Given the description of an element on the screen output the (x, y) to click on. 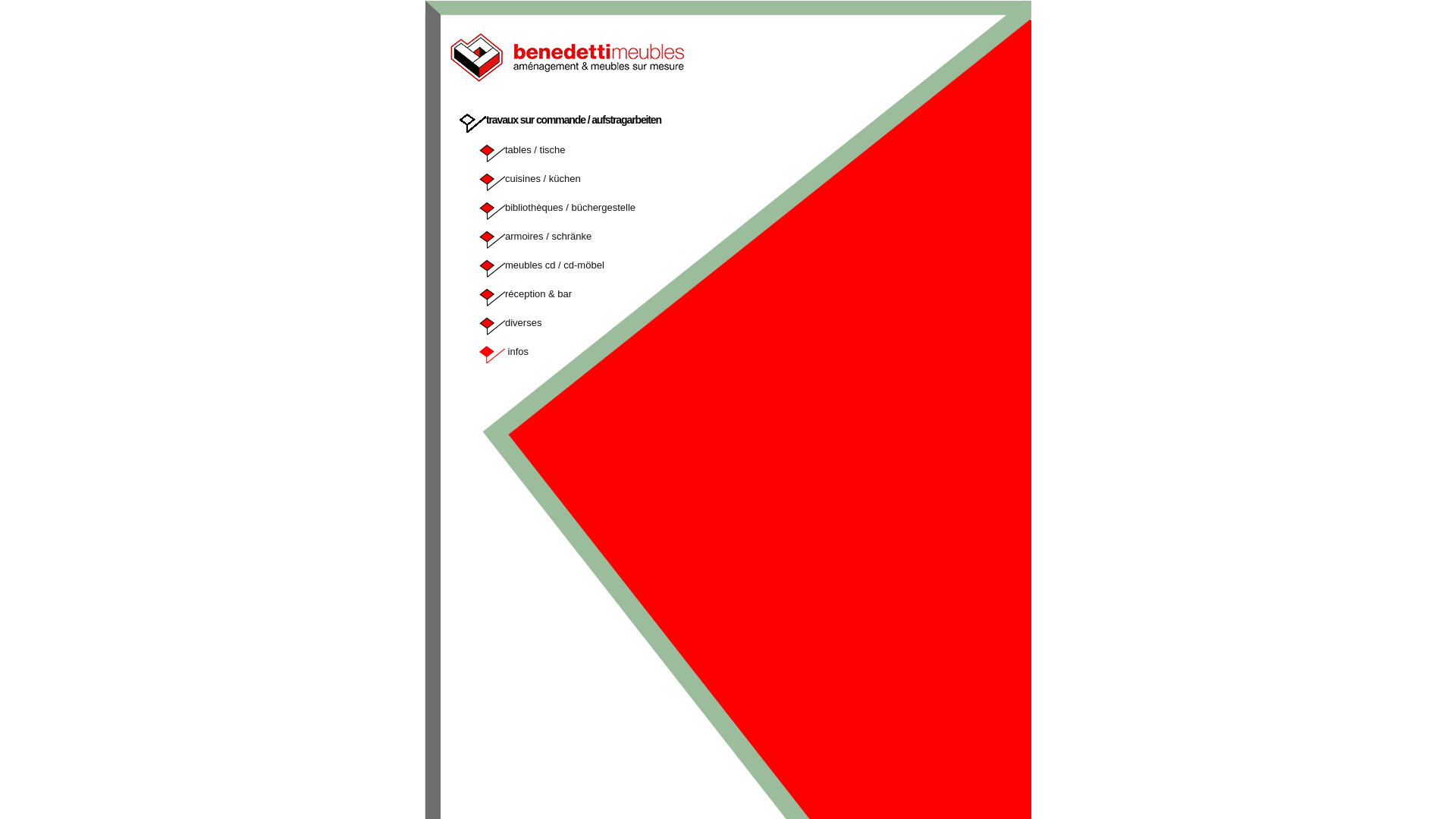
tables / tische Element type: text (535, 149)
diverses Element type: text (523, 322)
infos Element type: text (516, 351)
